Given the description of an element on the screen output the (x, y) to click on. 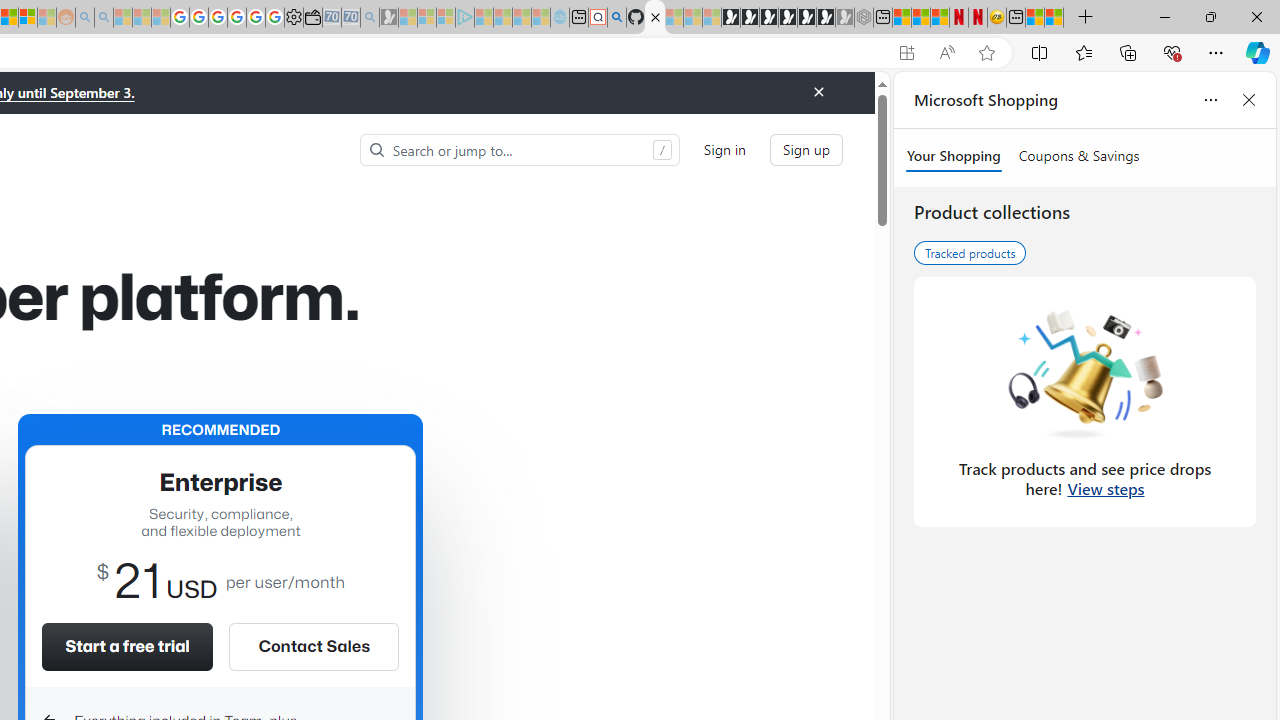
Sign up (806, 149)
Start a free trial (127, 646)
